Given the description of an element on the screen output the (x, y) to click on. 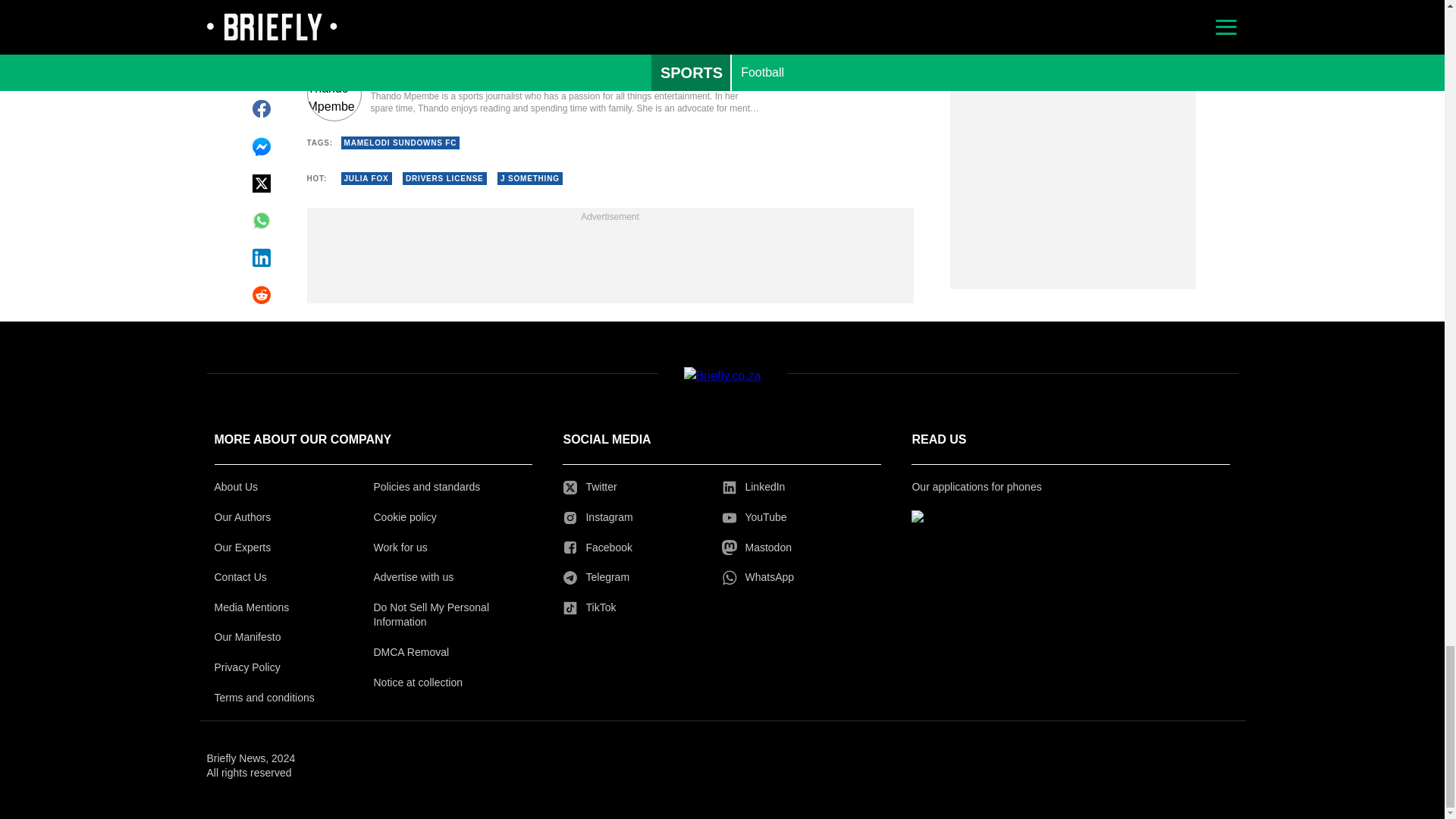
Author page (533, 93)
